Given the description of an element on the screen output the (x, y) to click on. 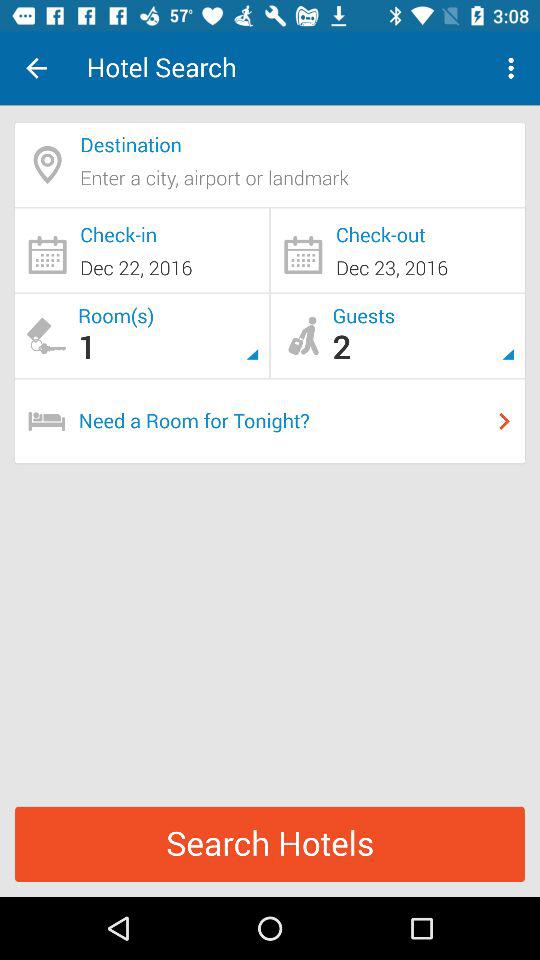
choose the search hotels (269, 843)
